Given the description of an element on the screen output the (x, y) to click on. 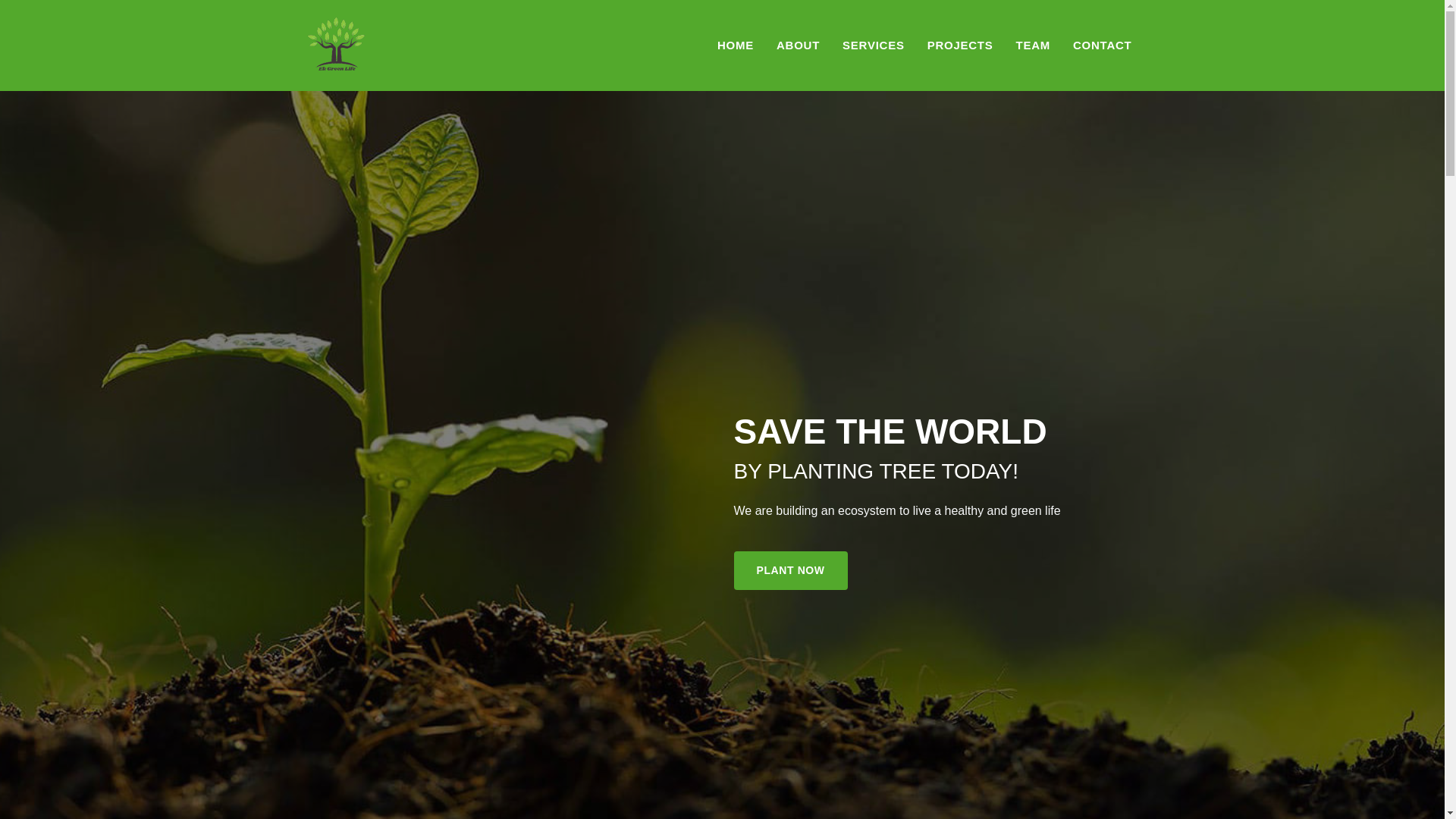
SERVICES (873, 45)
CONTACT (1102, 45)
ABOUT (797, 45)
PROJECTS (959, 45)
HOME (735, 45)
TEAM (1033, 45)
PLANT NOW (790, 570)
